Given the description of an element on the screen output the (x, y) to click on. 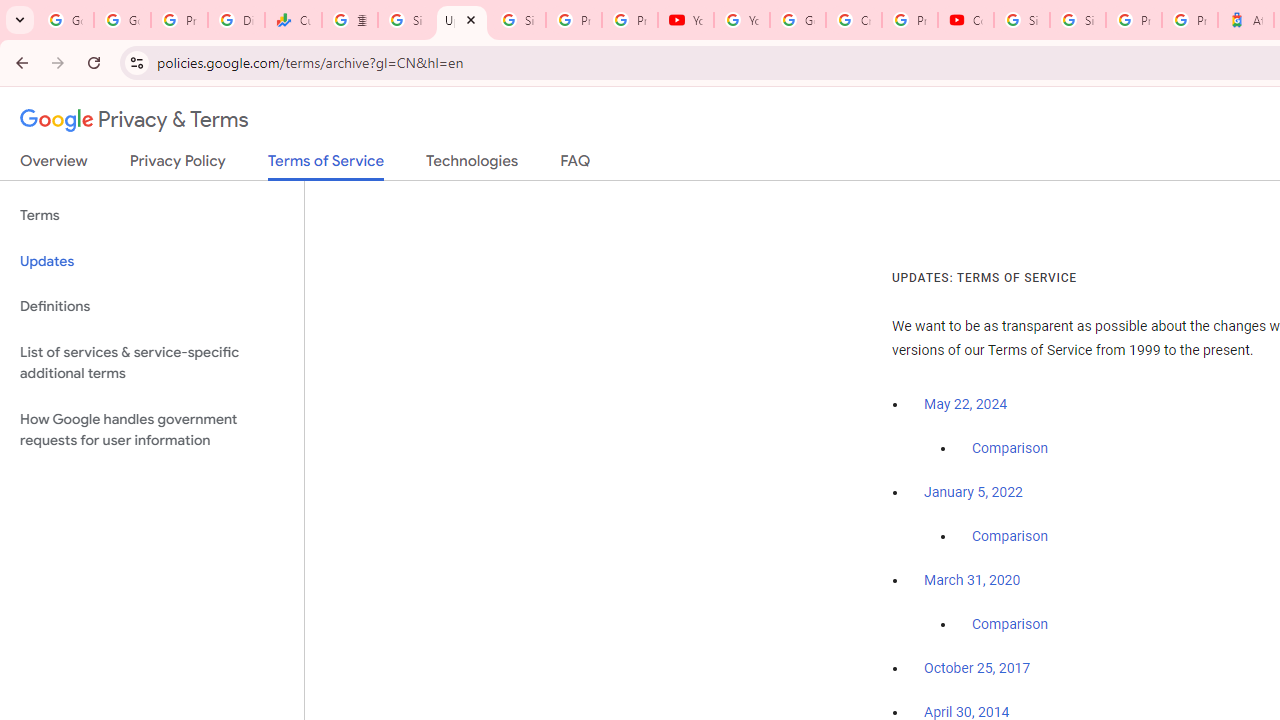
May 22, 2024 (966, 404)
YouTube (742, 20)
October 25, 2017 (977, 669)
Google Account Help (797, 20)
Privacy Checkup (629, 20)
How Google handles government requests for user information (152, 429)
March 31, 2020 (972, 580)
